Given the description of an element on the screen output the (x, y) to click on. 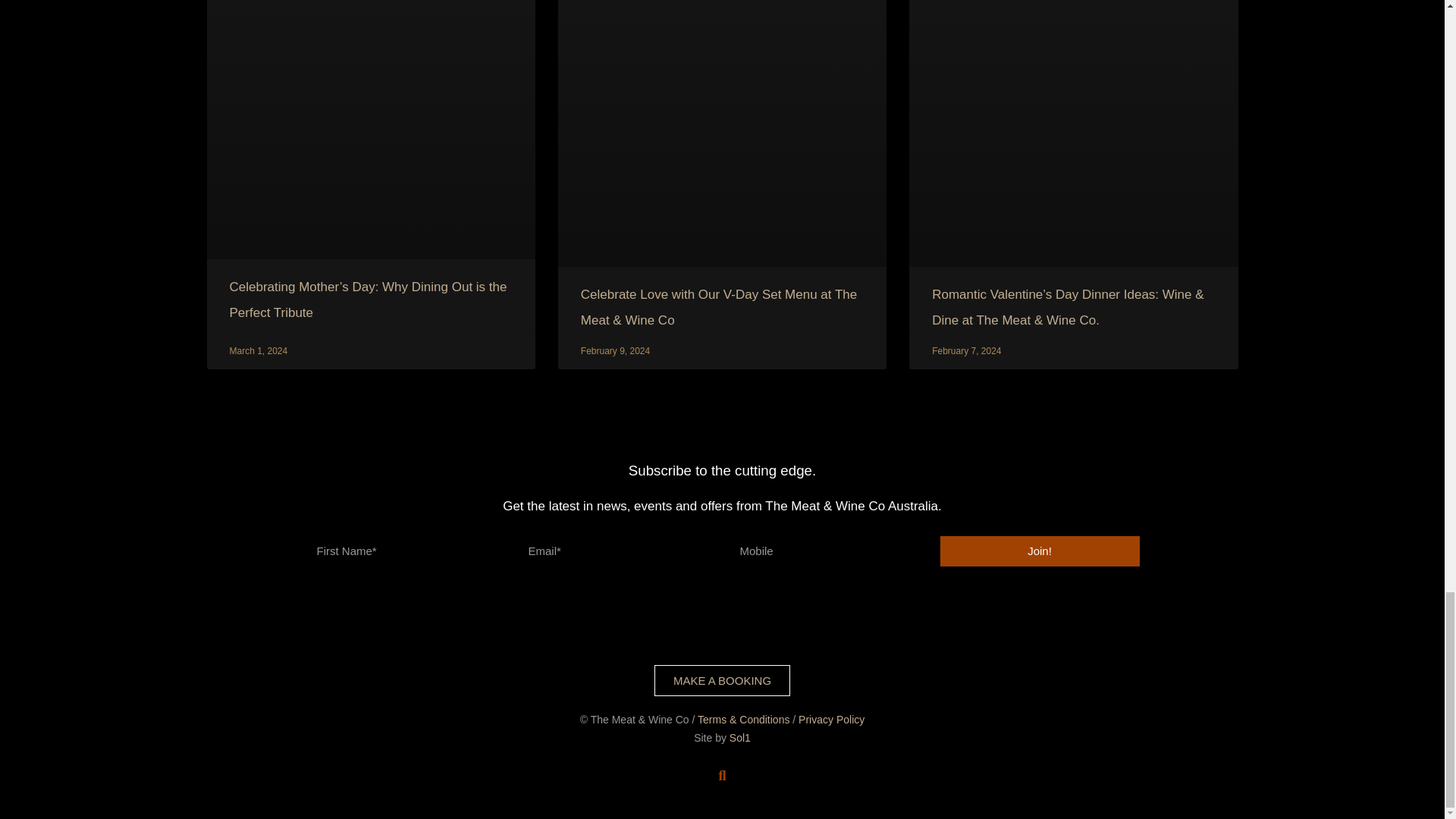
Join! (1040, 551)
Sol1 (740, 737)
MAKE A BOOKING (721, 680)
Privacy Policy (830, 719)
